Given the description of an element on the screen output the (x, y) to click on. 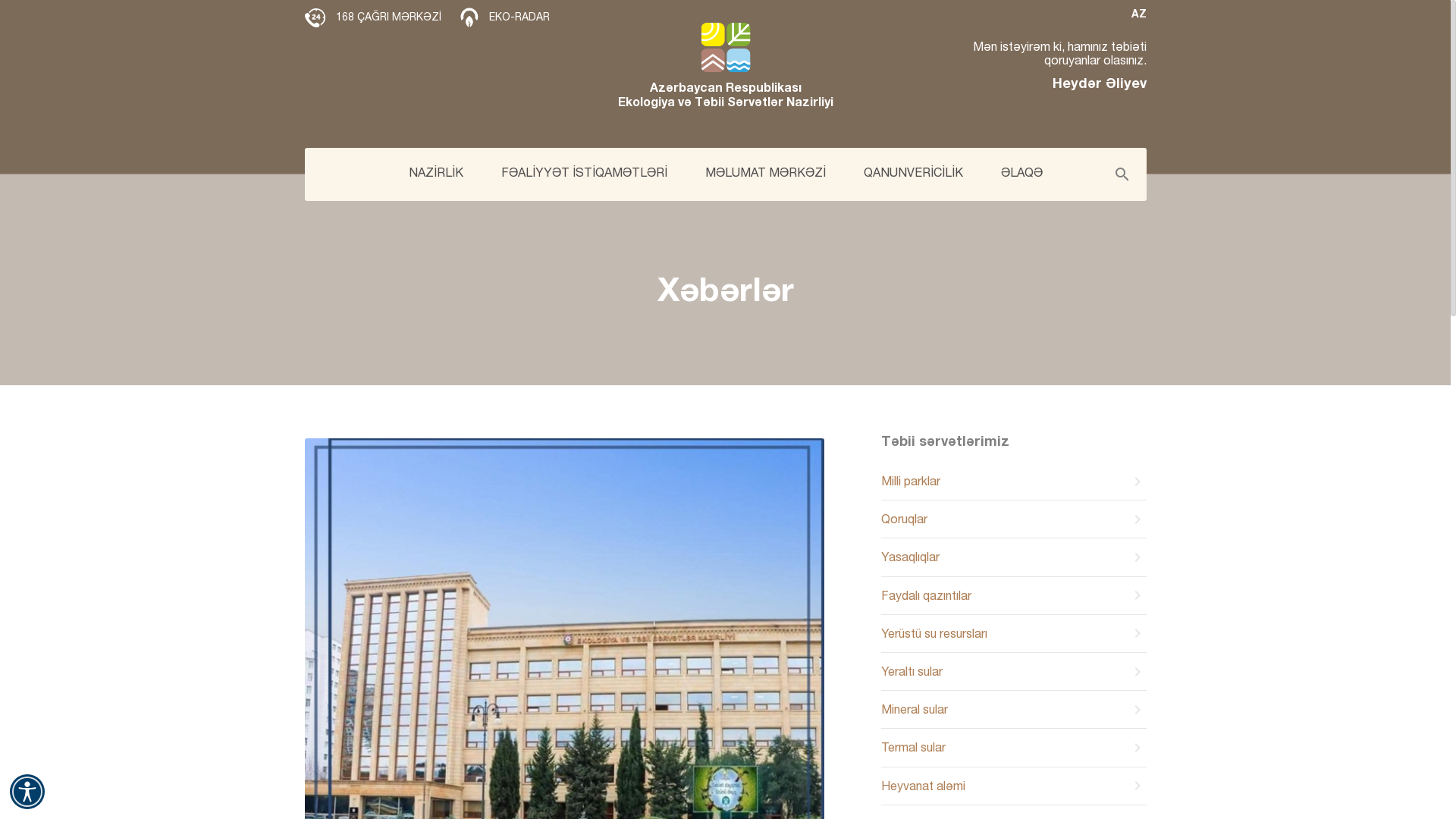
Qoruqlar Element type: text (1013, 519)
Milli parklar Element type: text (1013, 481)
EKO-RADAR Element type: text (504, 17)
Mineral sular Element type: text (1013, 709)
Termal sular Element type: text (1013, 747)
AZ Element type: text (1013, 13)
